Given the description of an element on the screen output the (x, y) to click on. 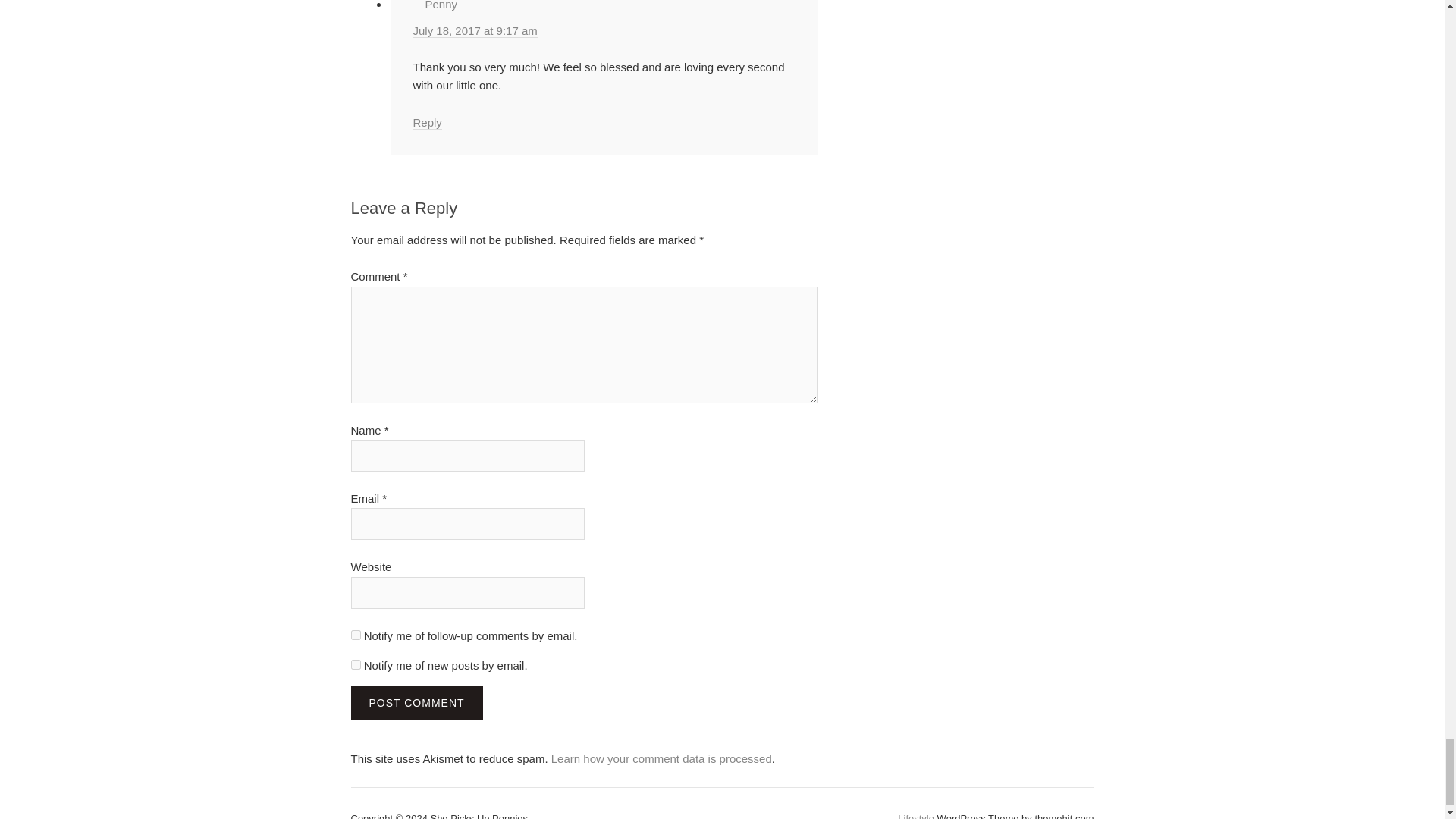
subscribe (354, 634)
subscribe (354, 664)
Post Comment (415, 702)
